Given the description of an element on the screen output the (x, y) to click on. 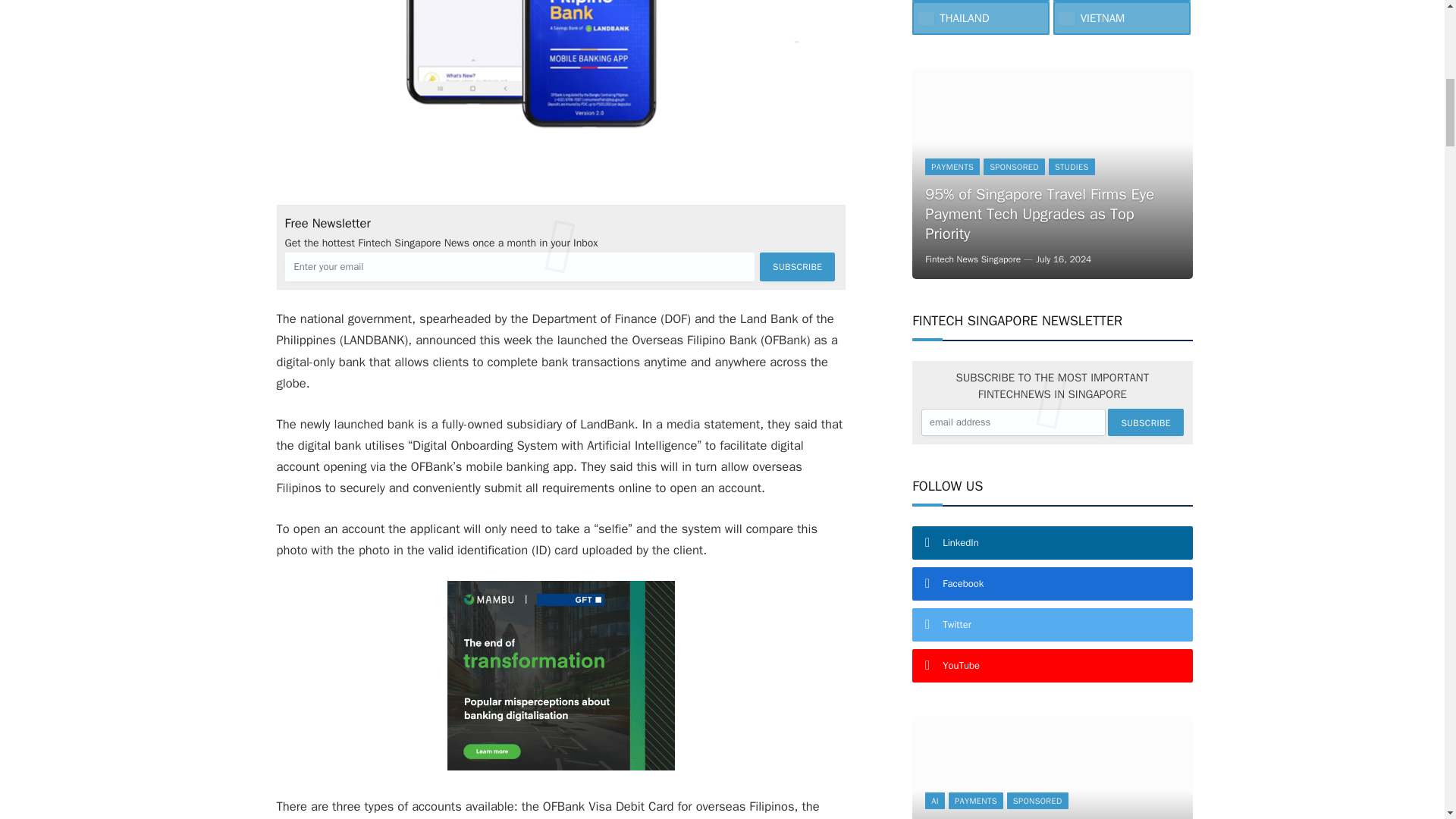
Subscribe (1145, 421)
Subscribe (797, 266)
